Given the description of an element on the screen output the (x, y) to click on. 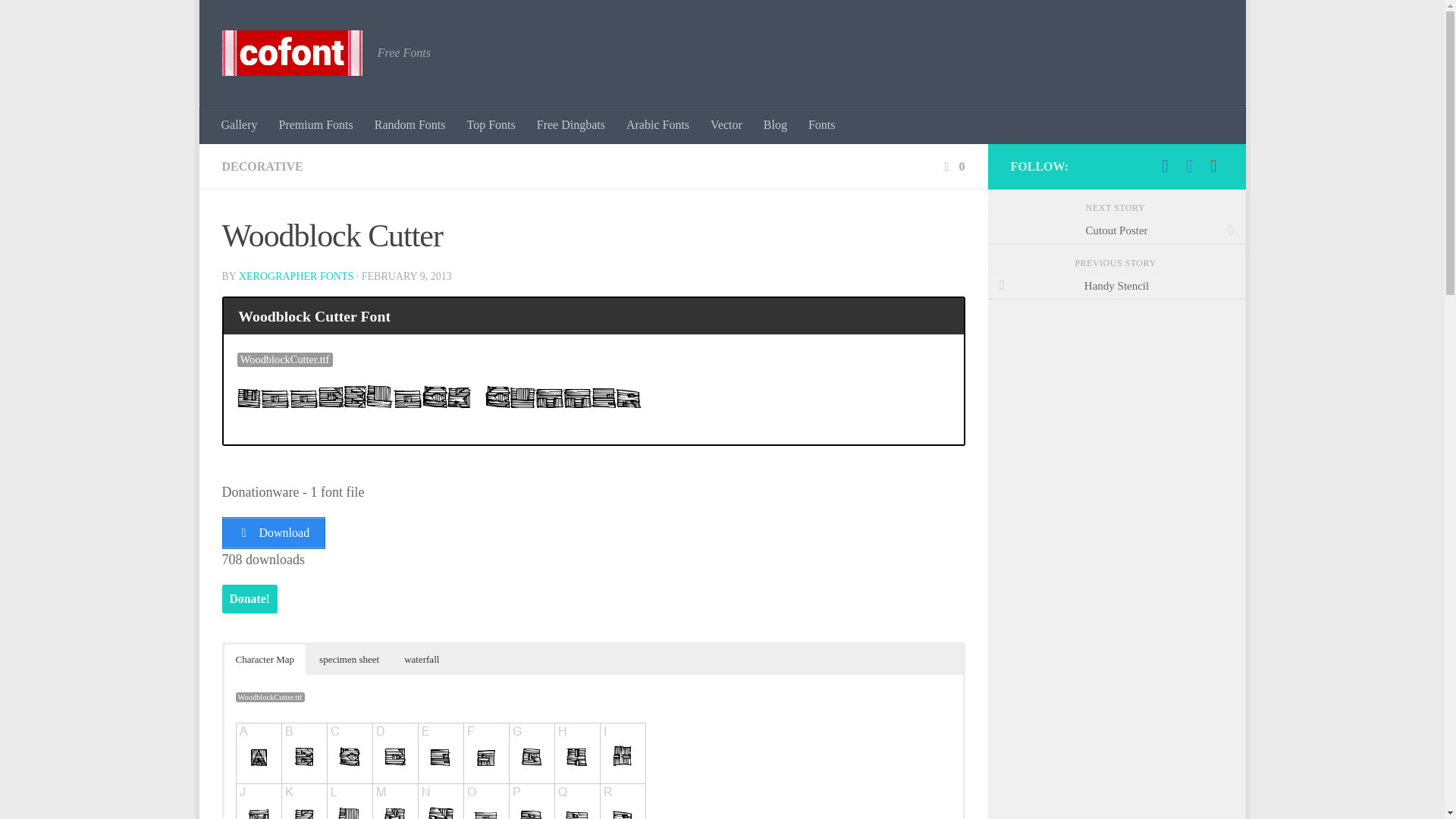
Woodblock Cutter 2 (443, 770)
0 (951, 165)
Top Fonts (491, 125)
Gallery (239, 125)
Twitter (1188, 166)
Free Dingbats (570, 125)
Random Fonts (410, 125)
DECORATIVE (261, 165)
Woodblock Cutter 1 (437, 396)
Donate! (248, 598)
Skip to content (258, 20)
Fonts (821, 125)
XEROGRAPHER FONTS (295, 276)
Pinterest (1213, 166)
Blog (774, 125)
